Given the description of an element on the screen output the (x, y) to click on. 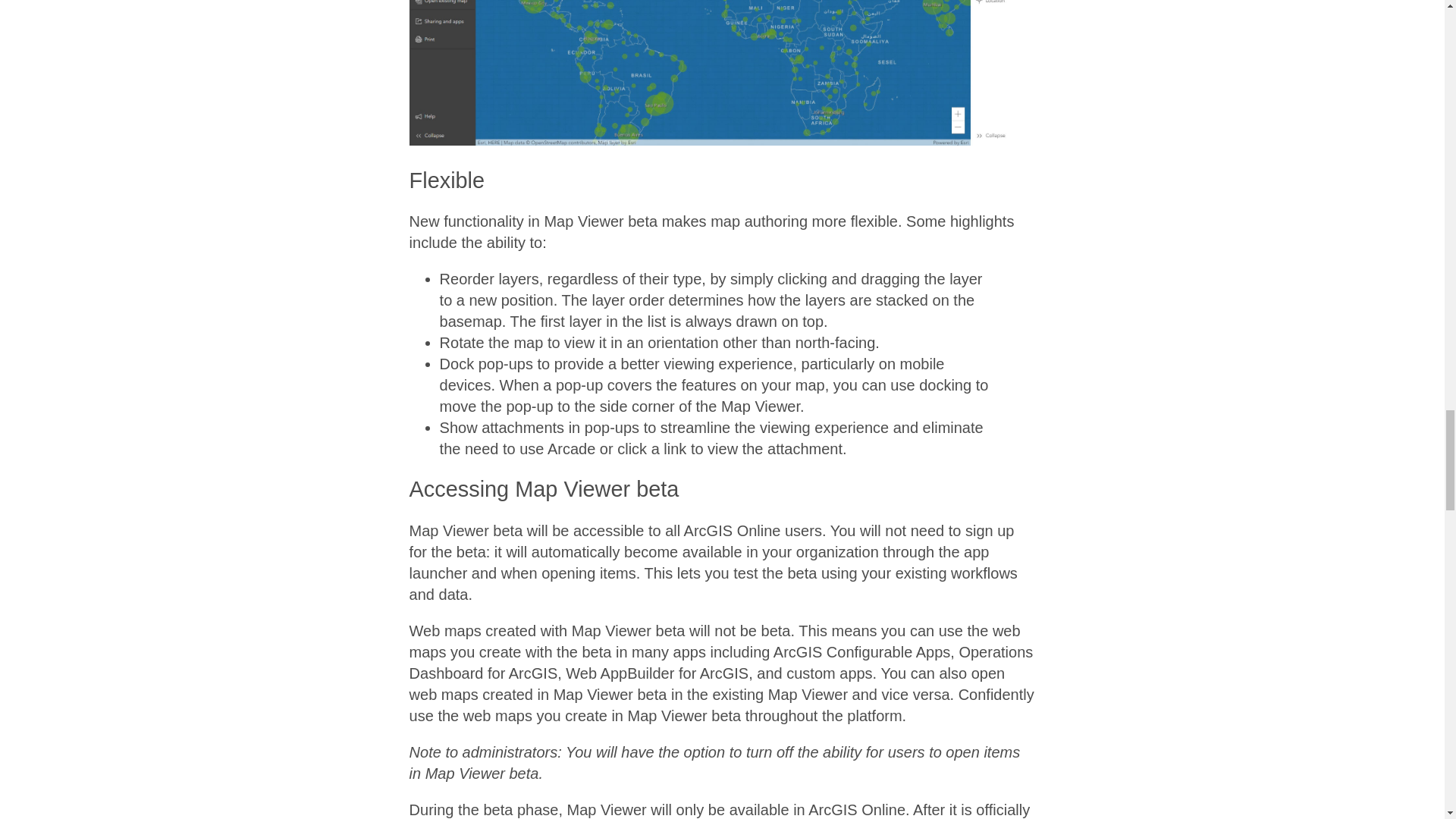
Map showcasing Map Viewer interface (722, 72)
